Given the description of an element on the screen output the (x, y) to click on. 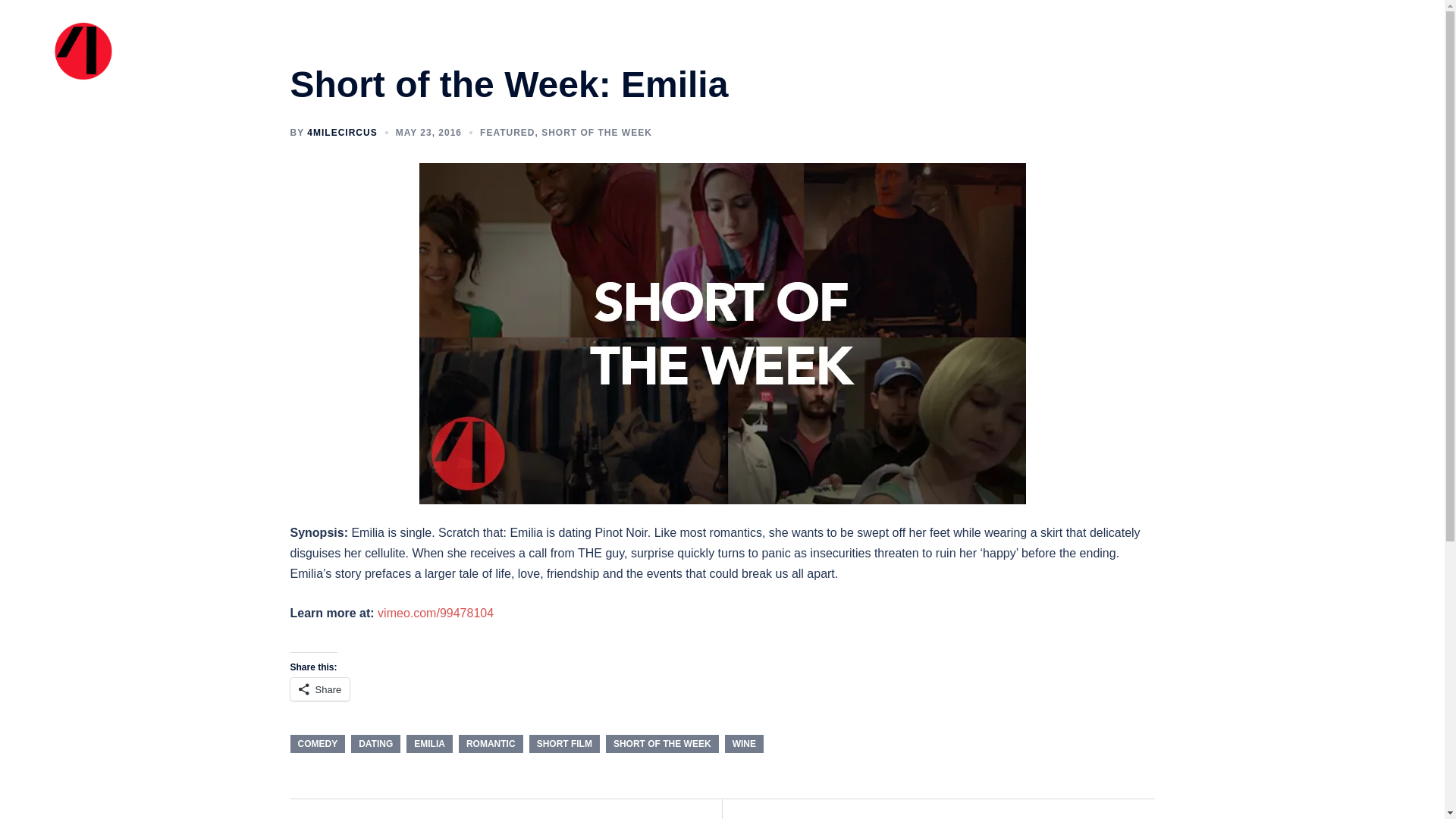
4MileCircus (82, 51)
EMILIA (429, 743)
DATING (375, 743)
SHORT OF THE WEEK (662, 743)
Film (1160, 53)
SHORT OF THE WEEK (596, 132)
ROMANTIC (490, 743)
Patreon (1370, 53)
Store (1316, 53)
WINE (743, 743)
COMEDY (317, 743)
4MILECIRCUS (342, 132)
Press (1270, 53)
Home (1065, 53)
Podcasts (1212, 53)
